Given the description of an element on the screen output the (x, y) to click on. 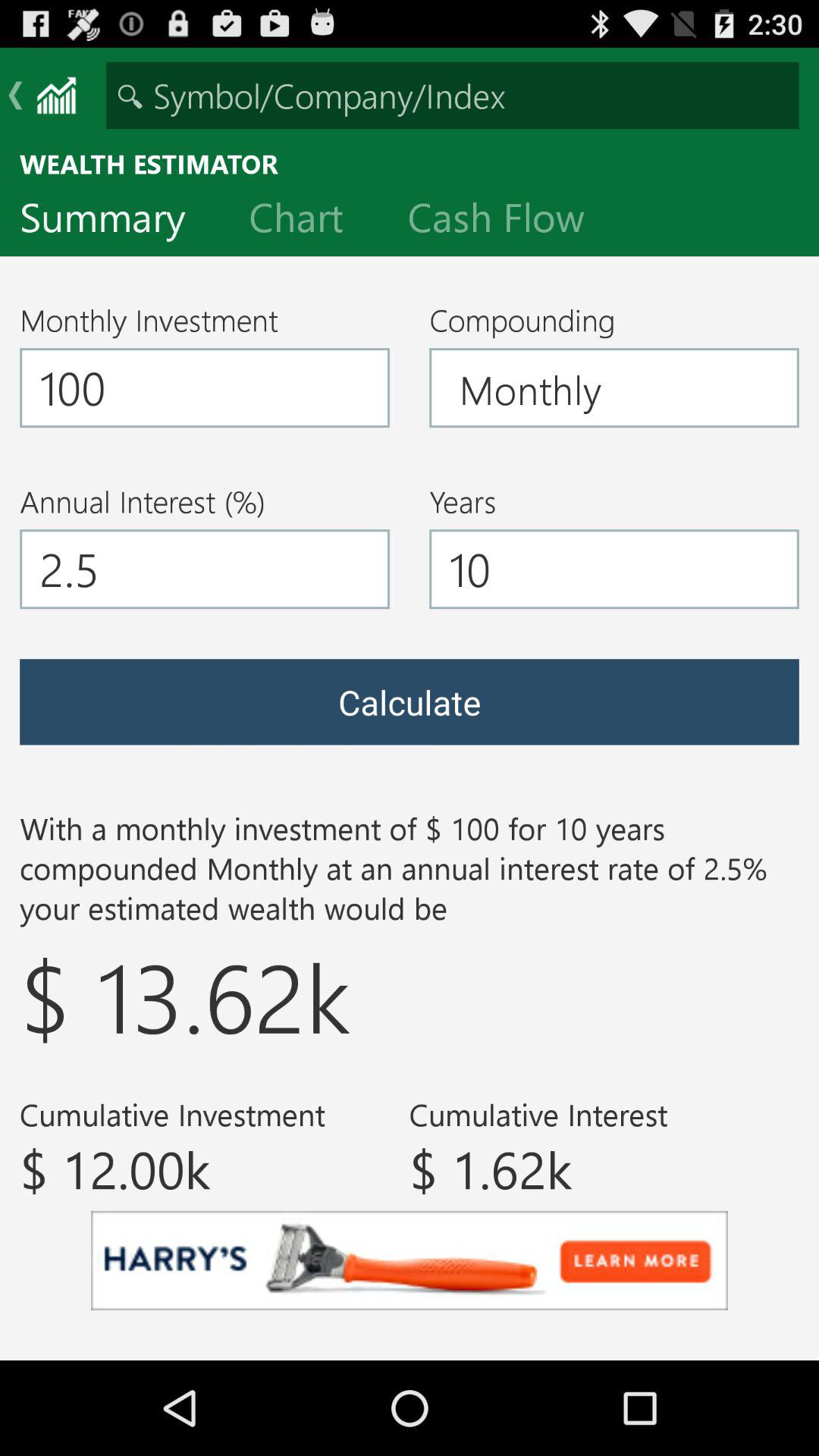
select the item to the left of chart icon (114, 220)
